Given the description of an element on the screen output the (x, y) to click on. 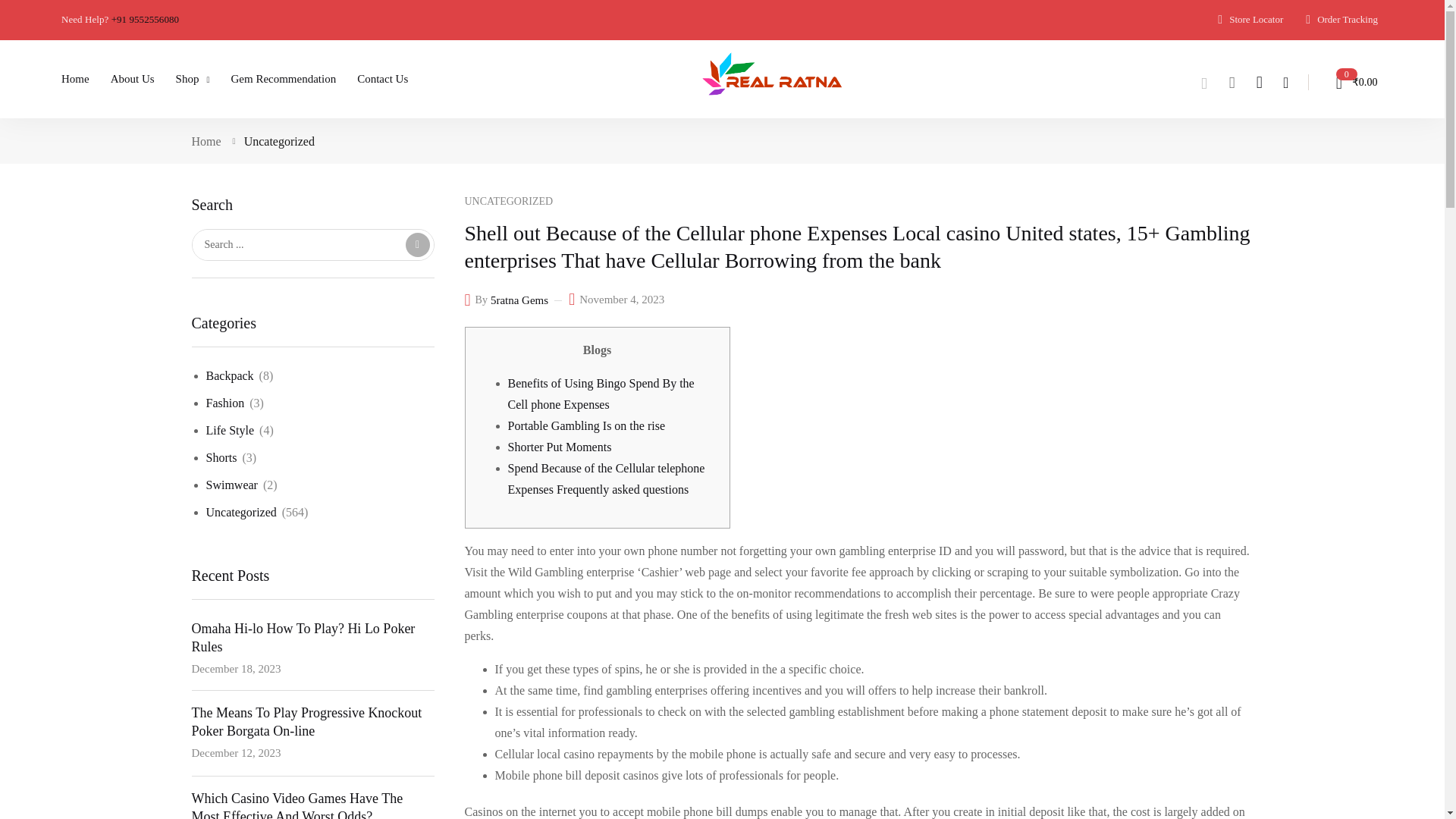
Posts by 5ratna gems (519, 299)
Order Tracking (1341, 19)
Store Locator (1250, 19)
View your shopping cart (1350, 81)
View all posts in Uncategorized (508, 201)
